Given the description of an element on the screen output the (x, y) to click on. 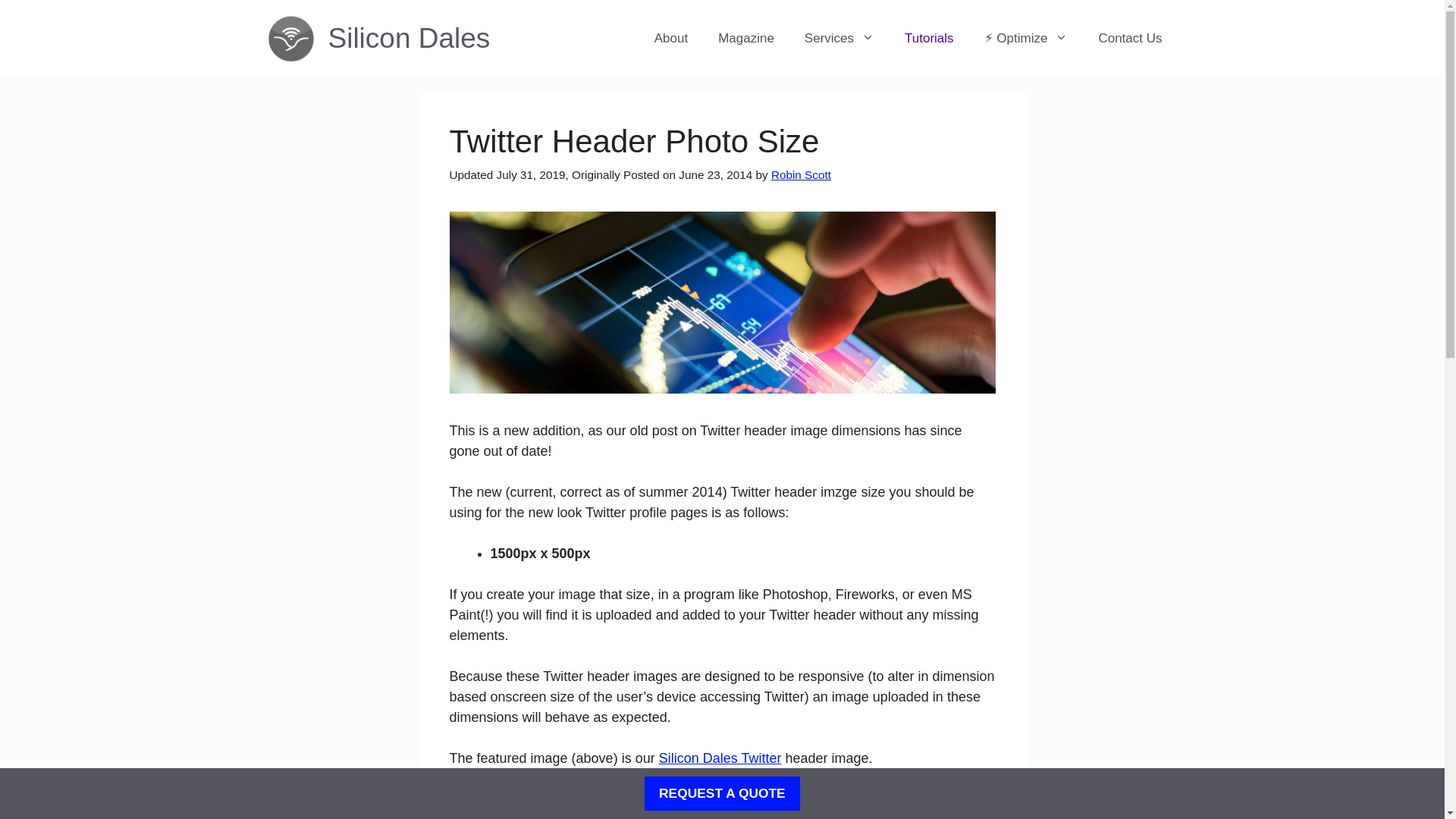
Magazine (746, 38)
Photoshop (618, 815)
Tutorials (489, 799)
Creative Suite (503, 815)
Silicon Dales (408, 38)
View all posts by Robin Scott (801, 174)
Robin Scott (801, 174)
Contact Us (1129, 38)
Services (839, 38)
Silicon Dales Twitter (720, 758)
